Given the description of an element on the screen output the (x, y) to click on. 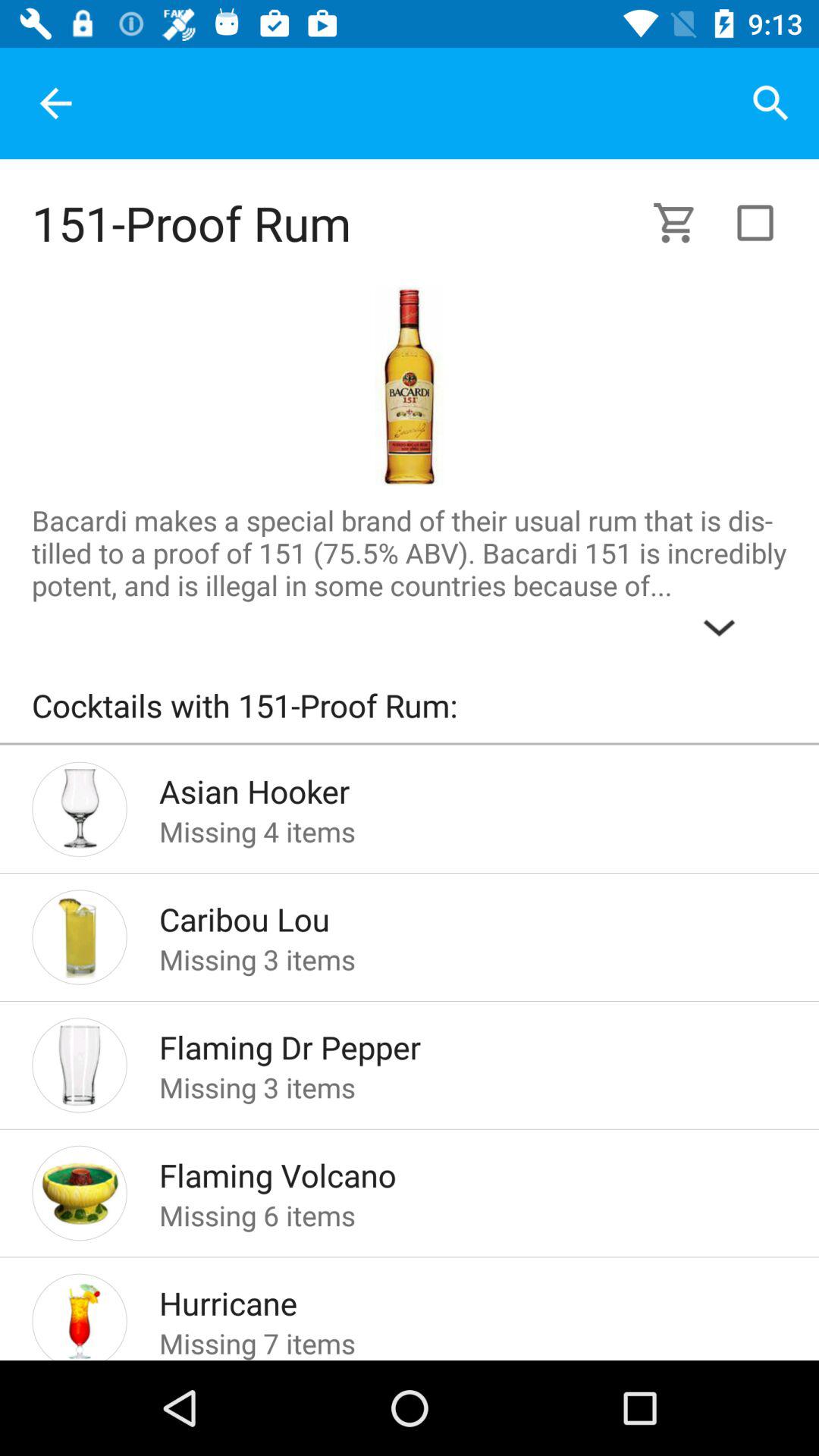
turn off cocktails with 151 (409, 712)
